Given the description of an element on the screen output the (x, y) to click on. 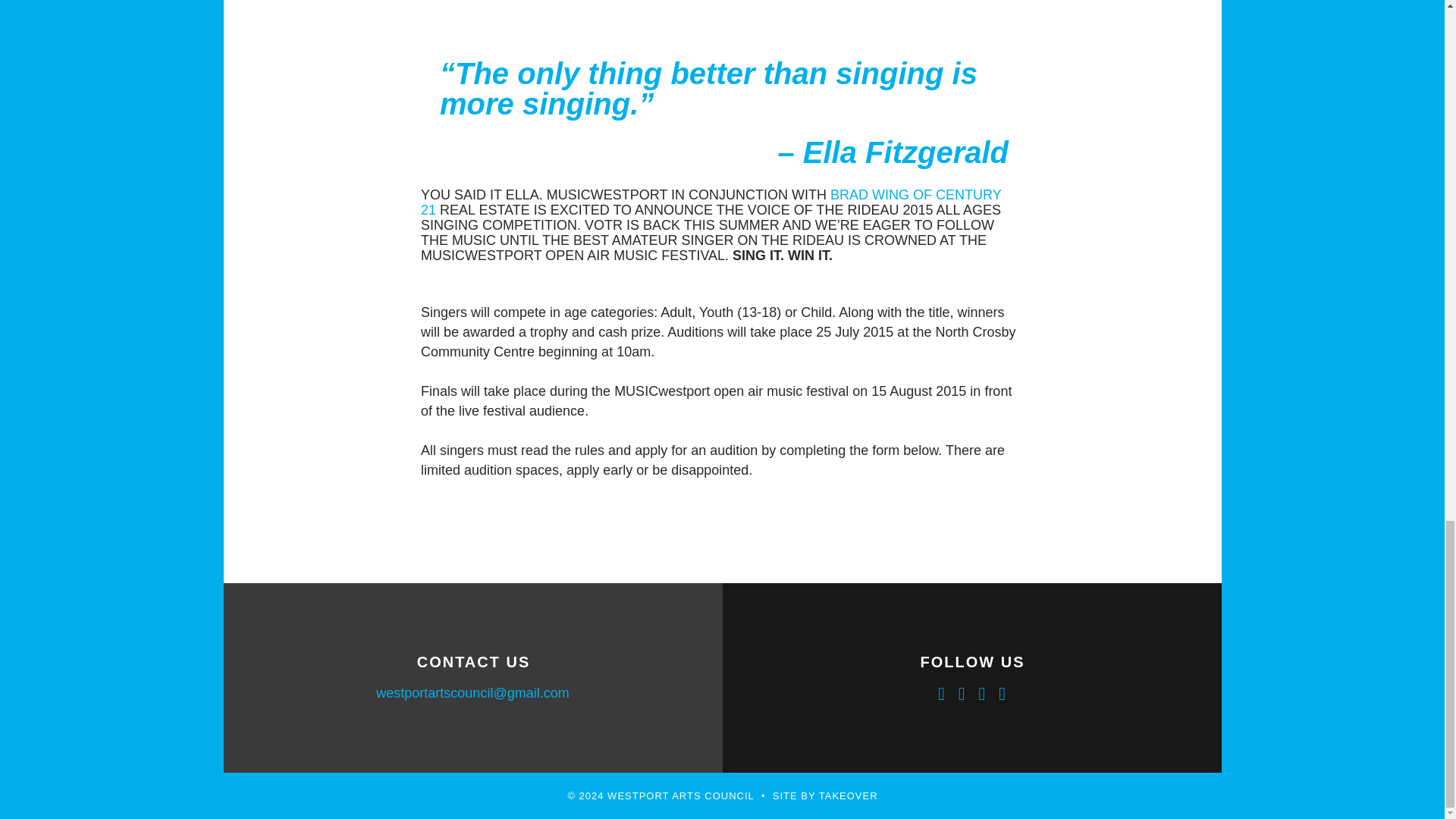
TAKEOVER (847, 795)
Website by Takeover Studio (847, 795)
BRAD WING OF CENTURY 21  (710, 202)
